Given the description of an element on the screen output the (x, y) to click on. 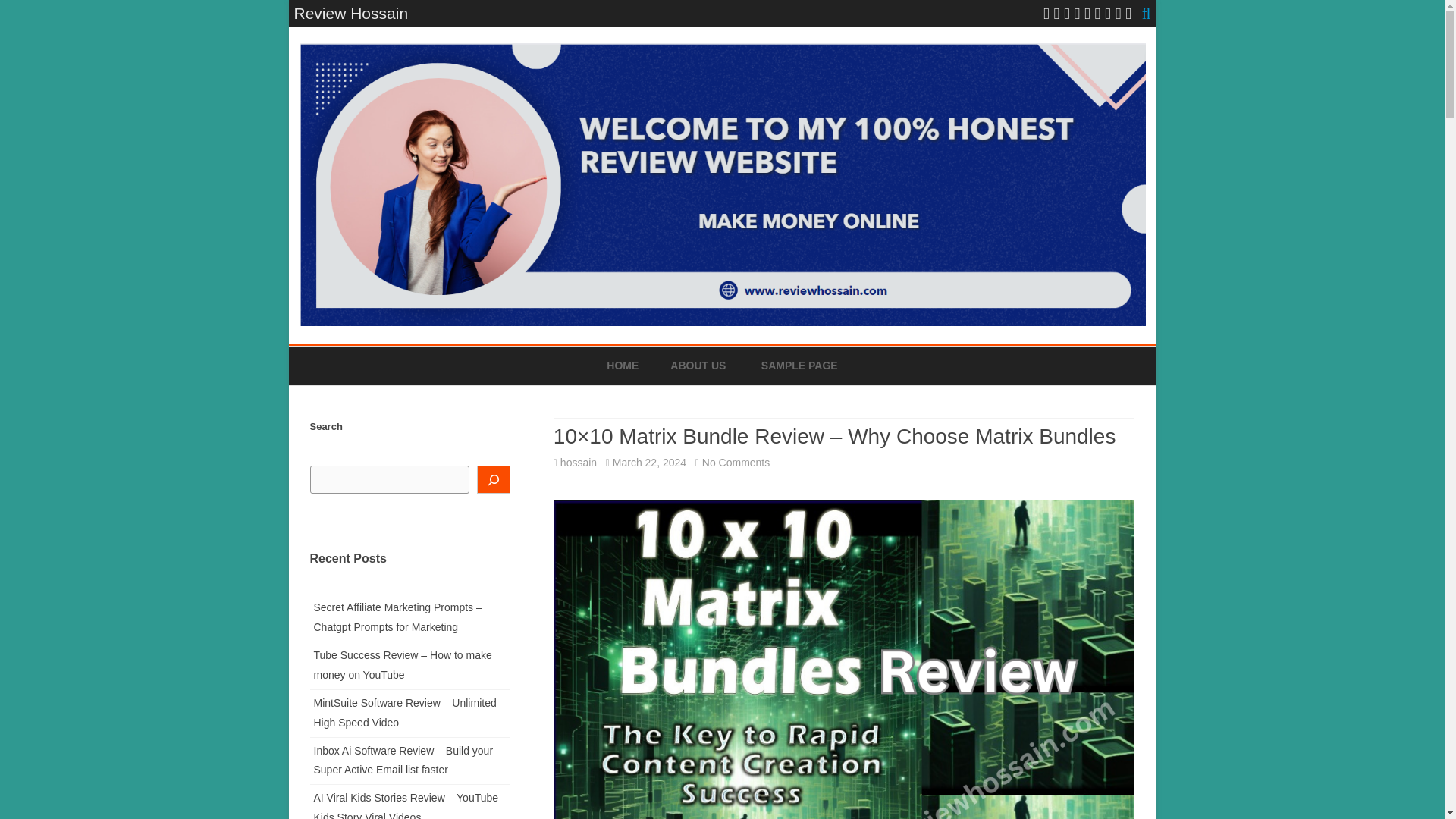
SAMPLE PAGE (799, 365)
ABOUT US (697, 365)
hossain (578, 462)
